Given the description of an element on the screen output the (x, y) to click on. 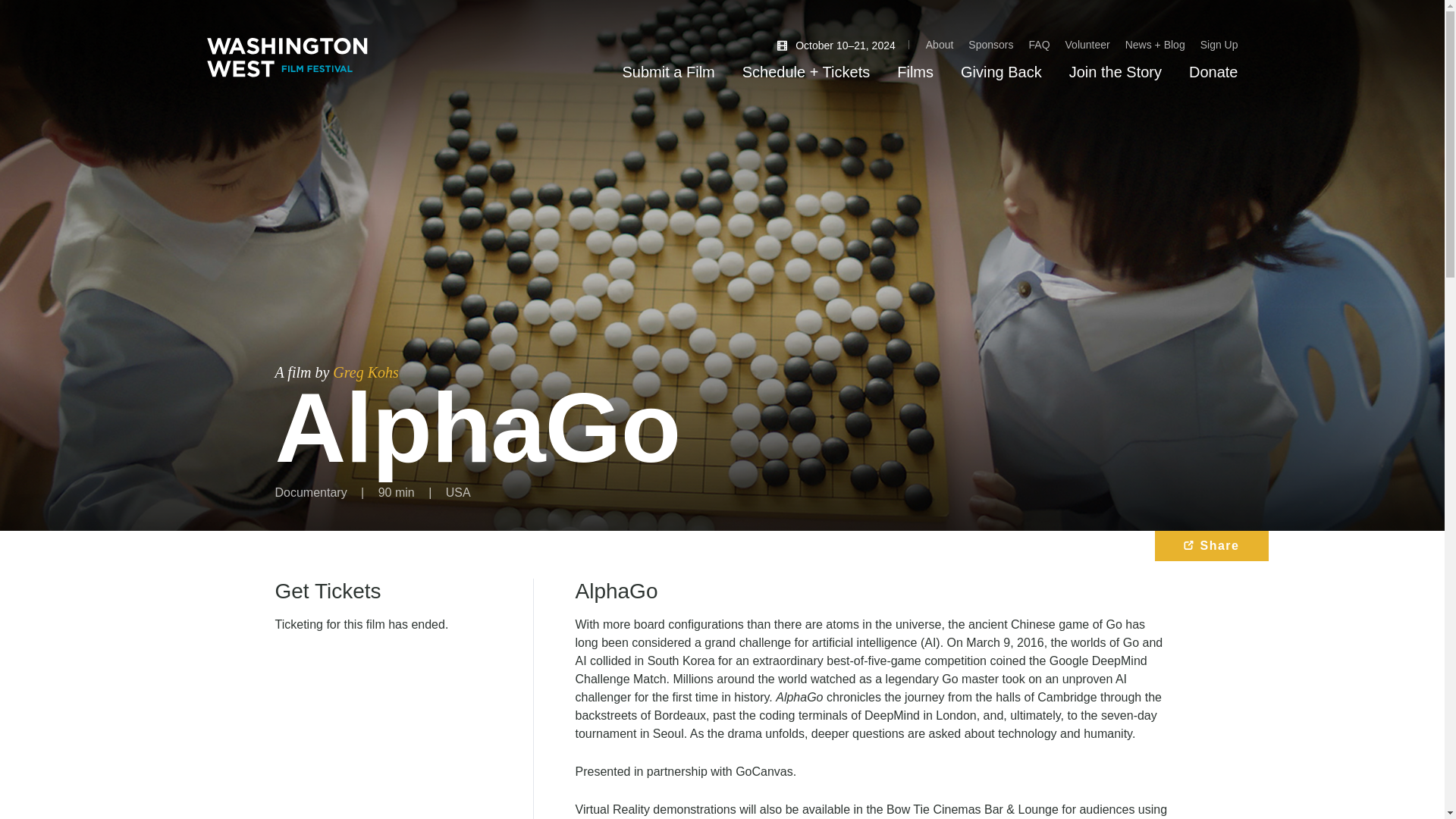
About (939, 44)
Volunteer (1087, 44)
Submit a Film (668, 71)
Sign Up (1219, 44)
FAQ (1039, 44)
Giving Back (1001, 71)
Donate (1214, 71)
Join the Story (1114, 71)
Films (914, 71)
Sponsors (990, 44)
